Given the description of an element on the screen output the (x, y) to click on. 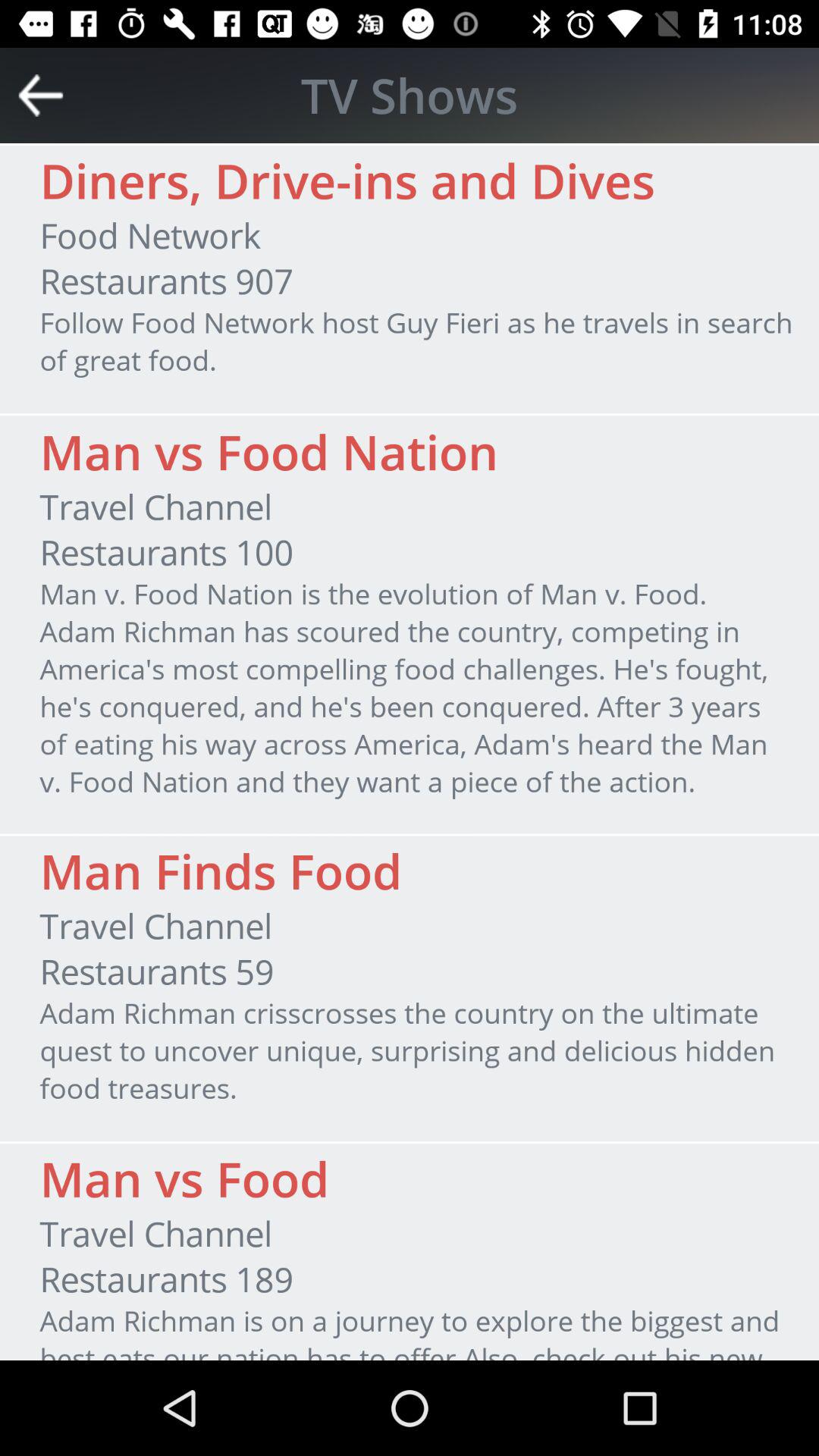
go back (41, 95)
